Given the description of an element on the screen output the (x, y) to click on. 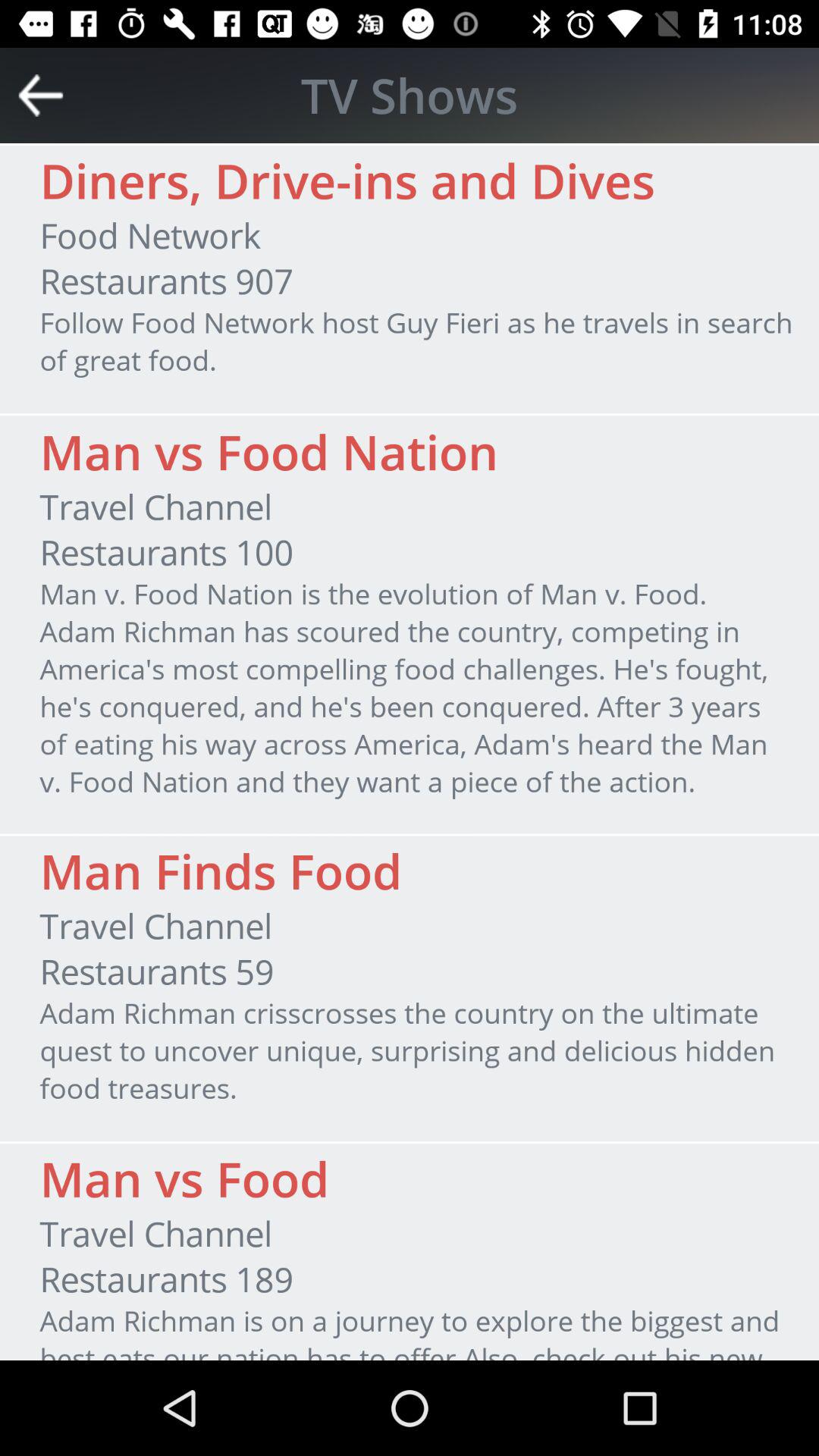
go back (41, 95)
